Given the description of an element on the screen output the (x, y) to click on. 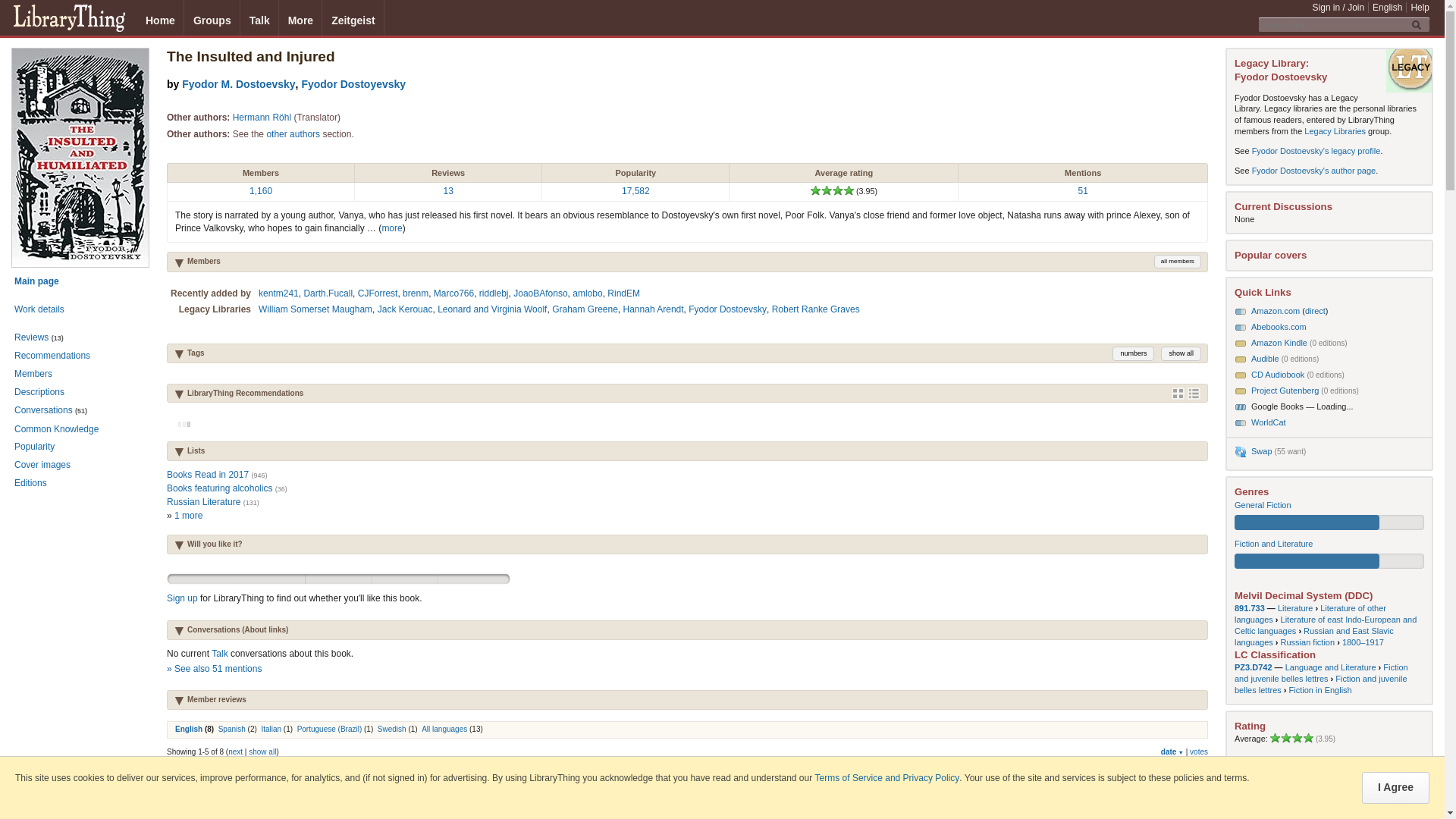
Home (160, 18)
Help (1419, 7)
English (1387, 7)
Talk (259, 18)
Groups (212, 18)
Search Site (1417, 24)
More (300, 18)
Zeitgeist (352, 18)
